Given the description of an element on the screen output the (x, y) to click on. 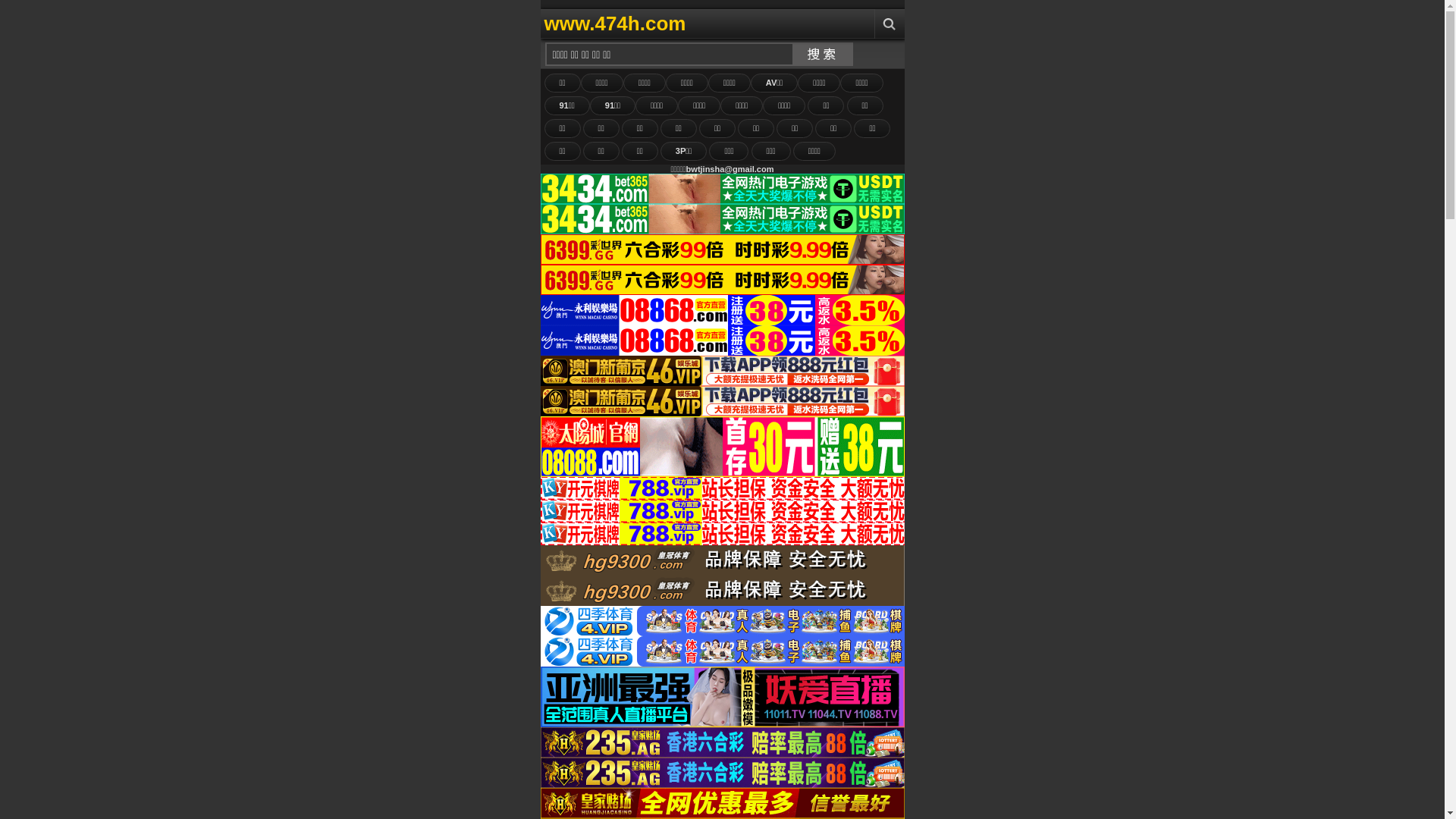
www.474h.com Element type: text (695, 23)
Search Element type: hover (888, 23)
